Given the description of an element on the screen output the (x, y) to click on. 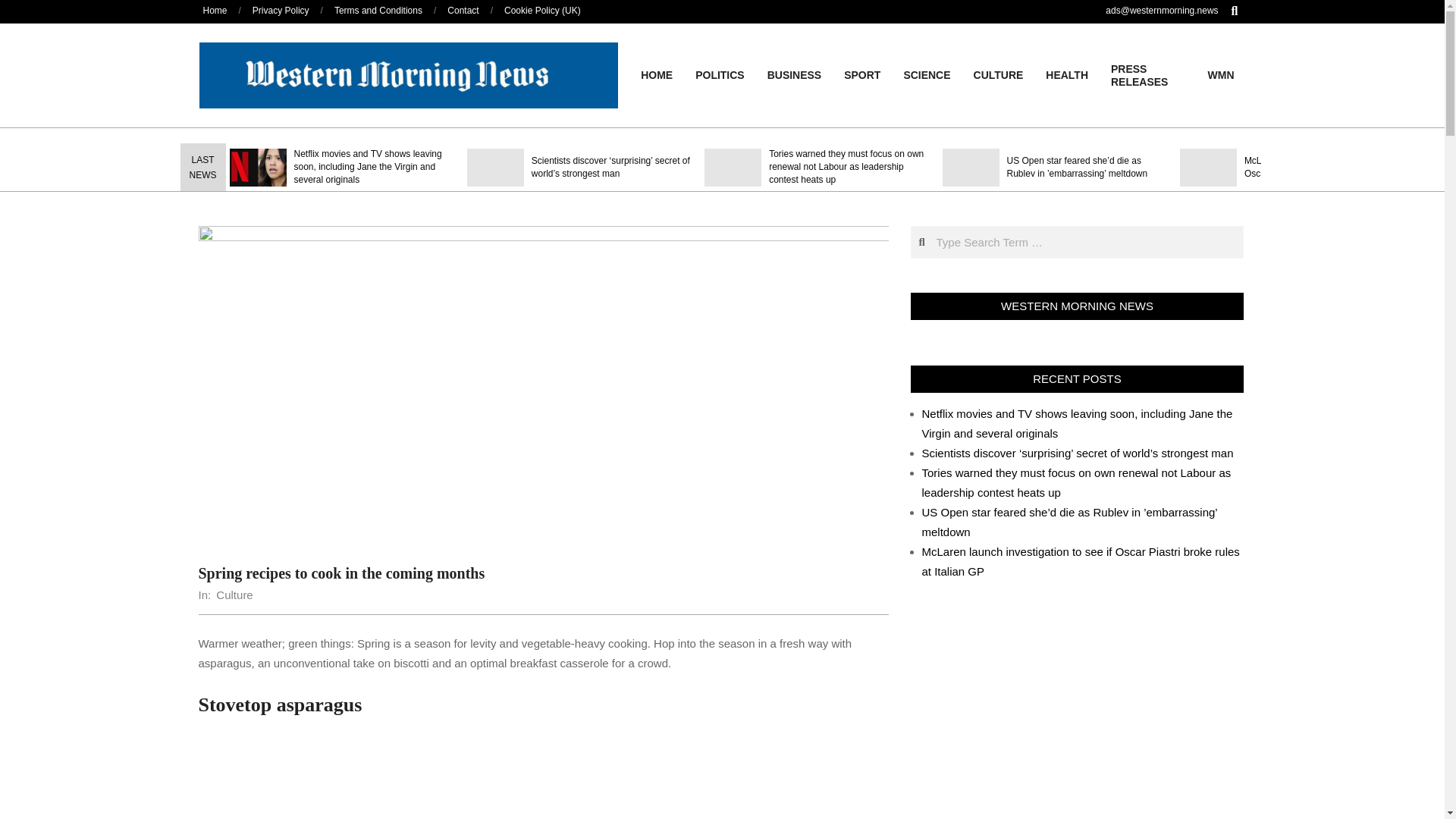
SCIENCE (925, 74)
WMN (1221, 74)
Home (215, 9)
CULTURE (998, 74)
SPORT (861, 74)
Terms and Conditions (378, 9)
Contact (462, 9)
Search (21, 8)
